Given the description of an element on the screen output the (x, y) to click on. 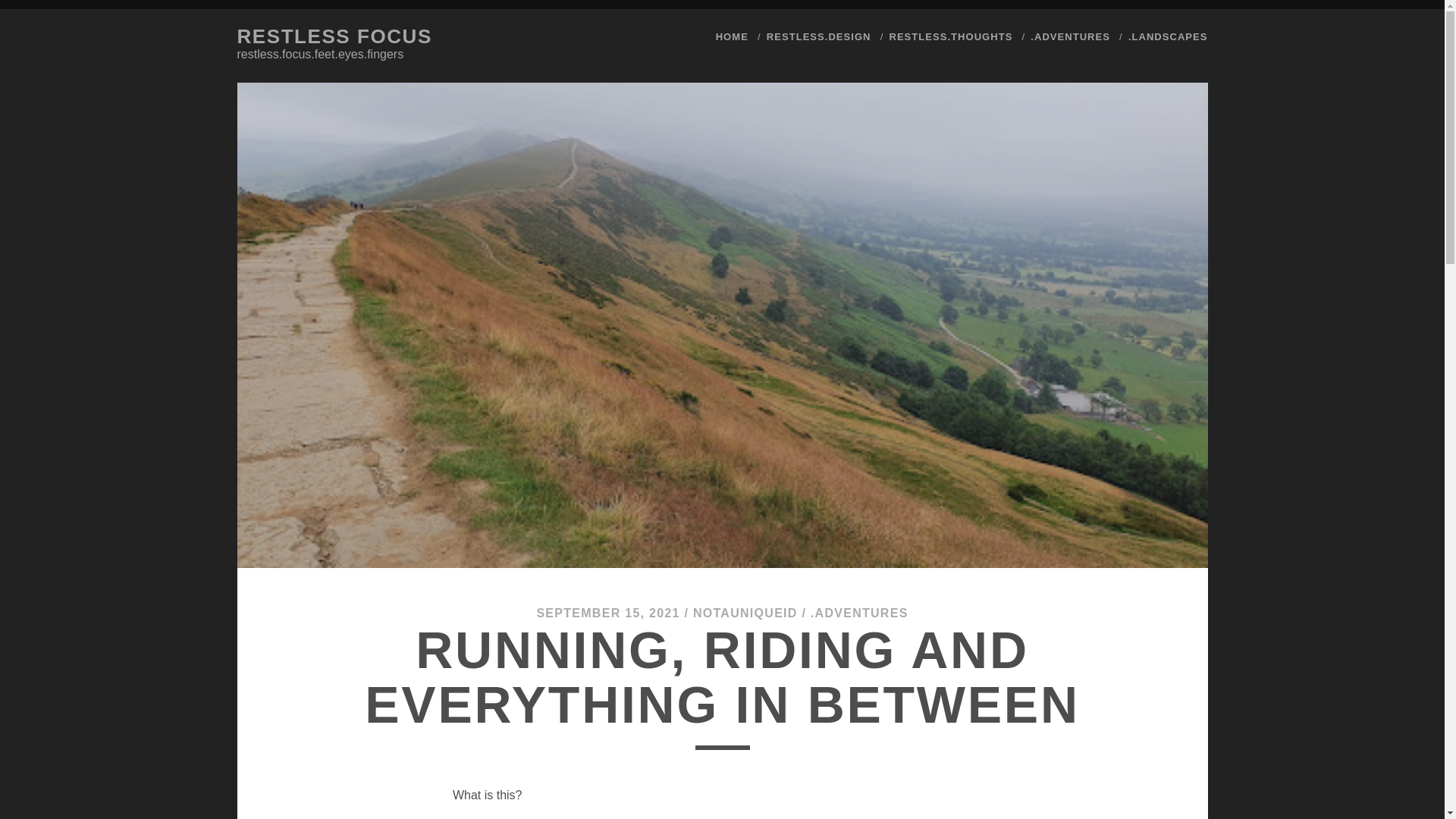
RESTLESS.DESIGN (818, 36)
NOTAUNIQUEID (745, 612)
.ADVENTURES (859, 612)
HOME (732, 36)
RESTLESS.THOUGHTS (949, 36)
.LANDSCAPES (1168, 36)
.ADVENTURES (1069, 36)
Posts by notauniqueid (745, 612)
RESTLESS FOCUS (332, 36)
